Given the description of an element on the screen output the (x, y) to click on. 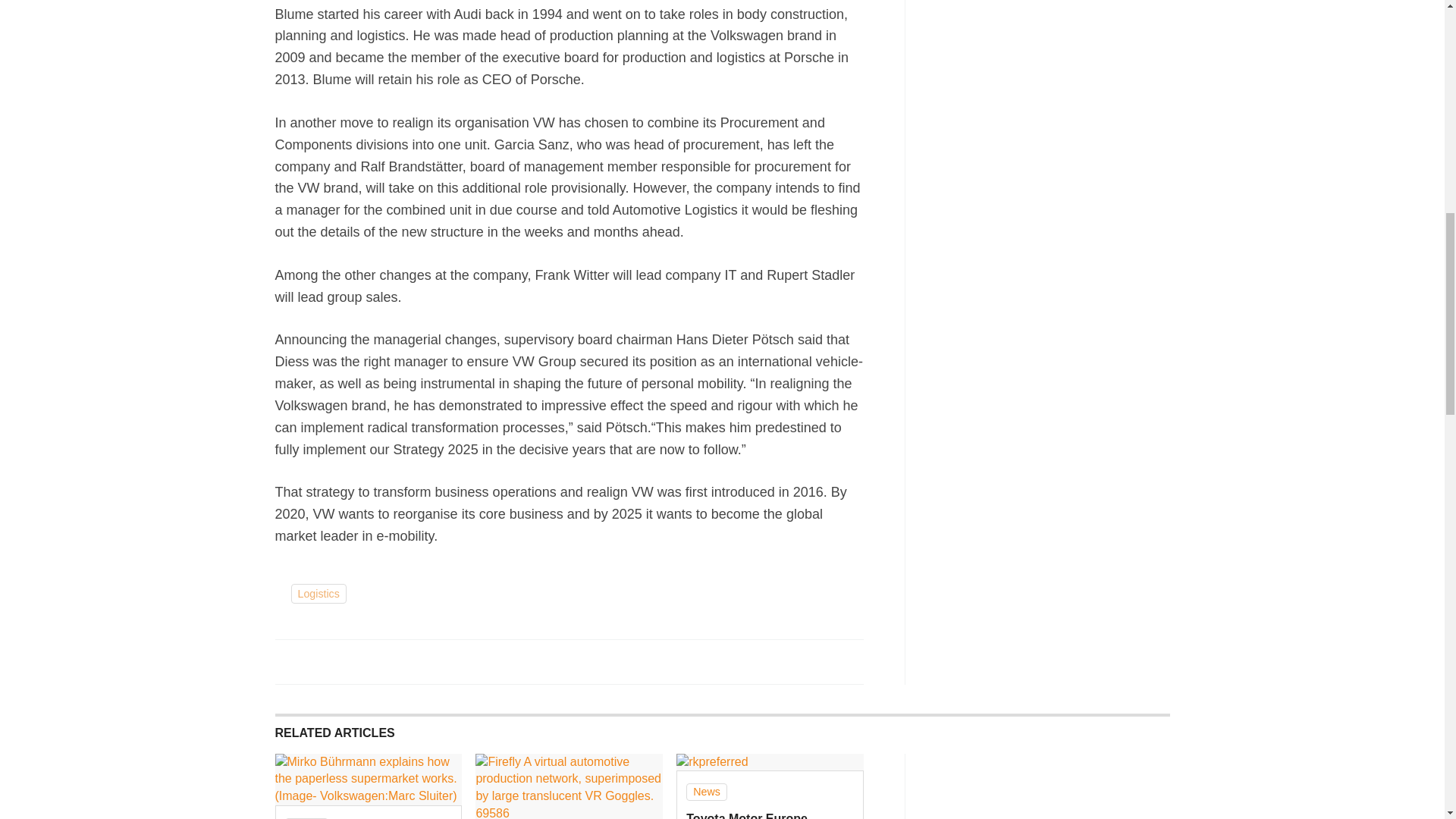
Email this article (386, 660)
Share this on Linked in (352, 660)
Share this on Facebook (288, 660)
Share this on Twitter (320, 660)
